Given the description of an element on the screen output the (x, y) to click on. 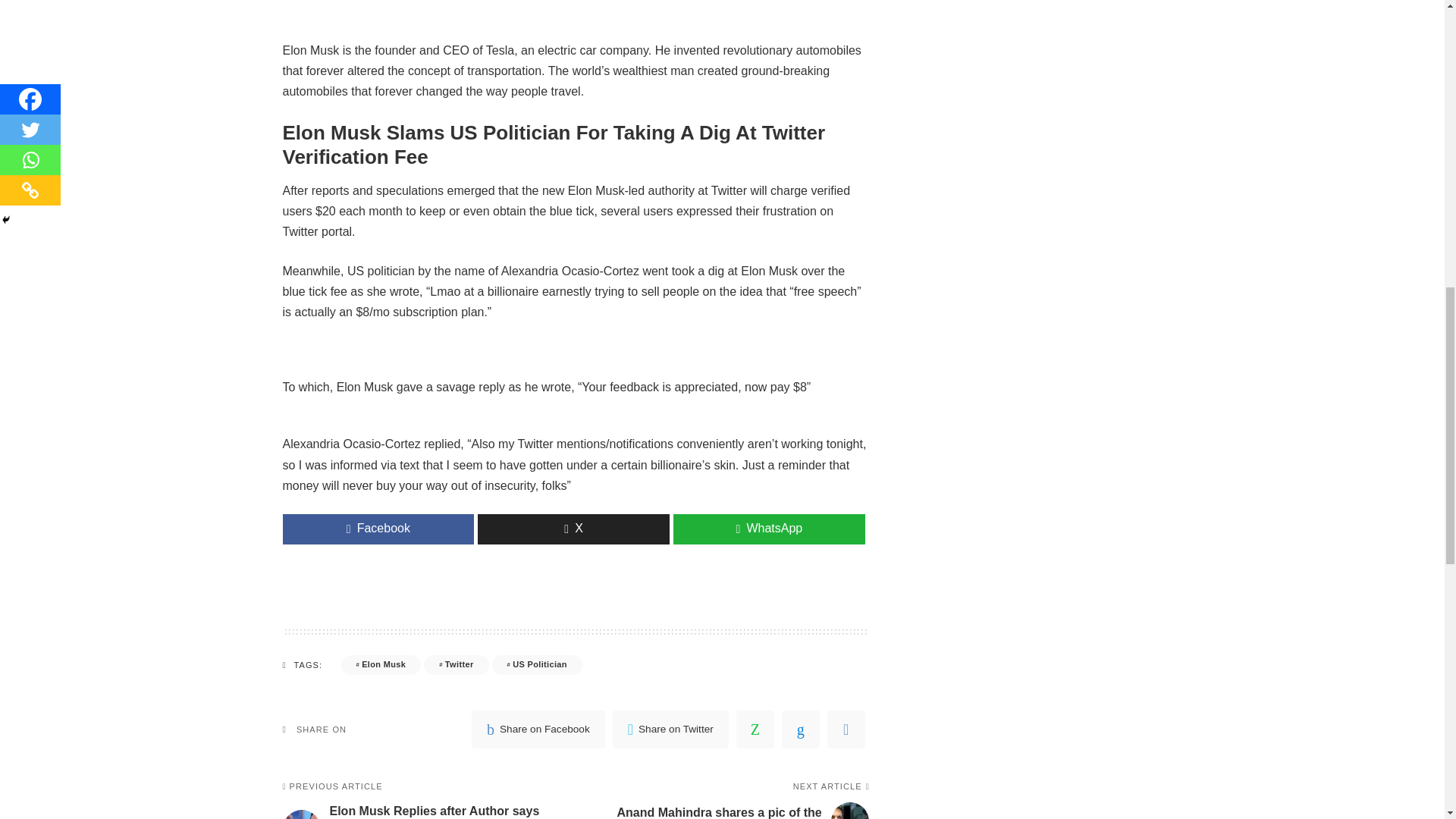
Advertisement (575, 11)
Elon Musk (381, 664)
